Given the description of an element on the screen output the (x, y) to click on. 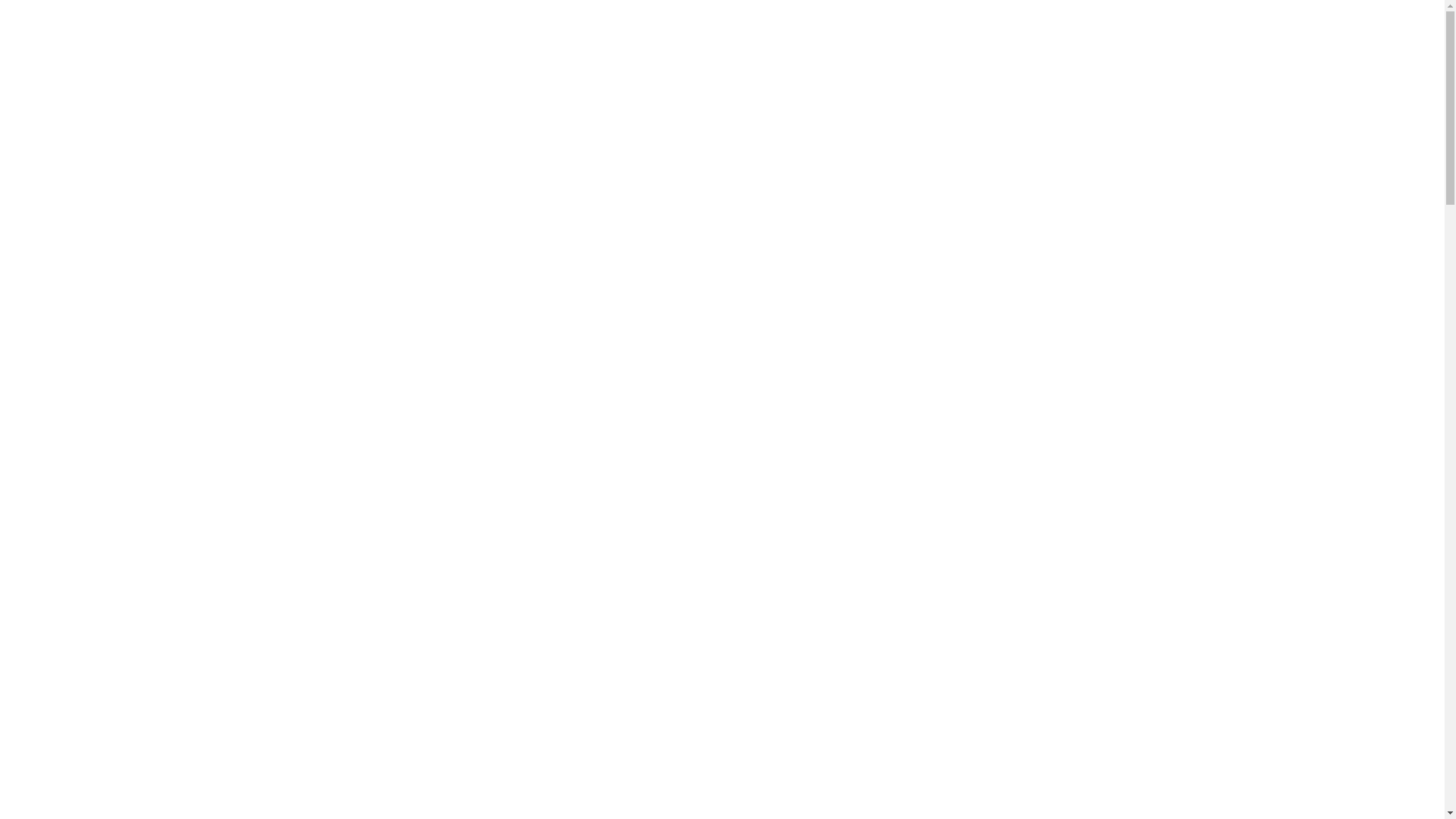
Far North Coast Conveyancing Element type: text (399, 66)
NEW-FNCC-logo-RGB-VFA1 Element type: hover (342, 53)
